Given the description of an element on the screen output the (x, y) to click on. 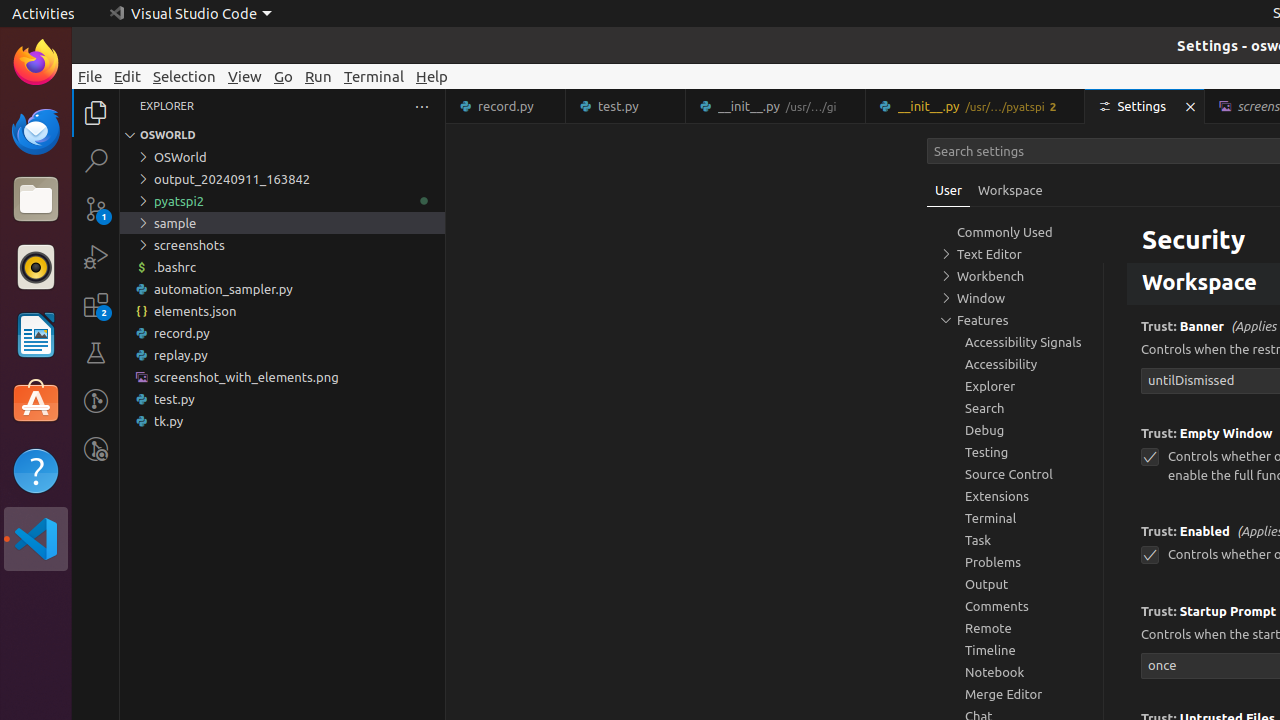
Source Control, group Element type: tree-item (1015, 474)
Search, group Element type: tree-item (1015, 408)
Accessibility Signals, group Element type: tree-item (1015, 342)
Explorer Section: osworld Element type: push-button (282, 135)
security.workspace.trust.emptyWindow Element type: check-box (1150, 457)
